Given the description of an element on the screen output the (x, y) to click on. 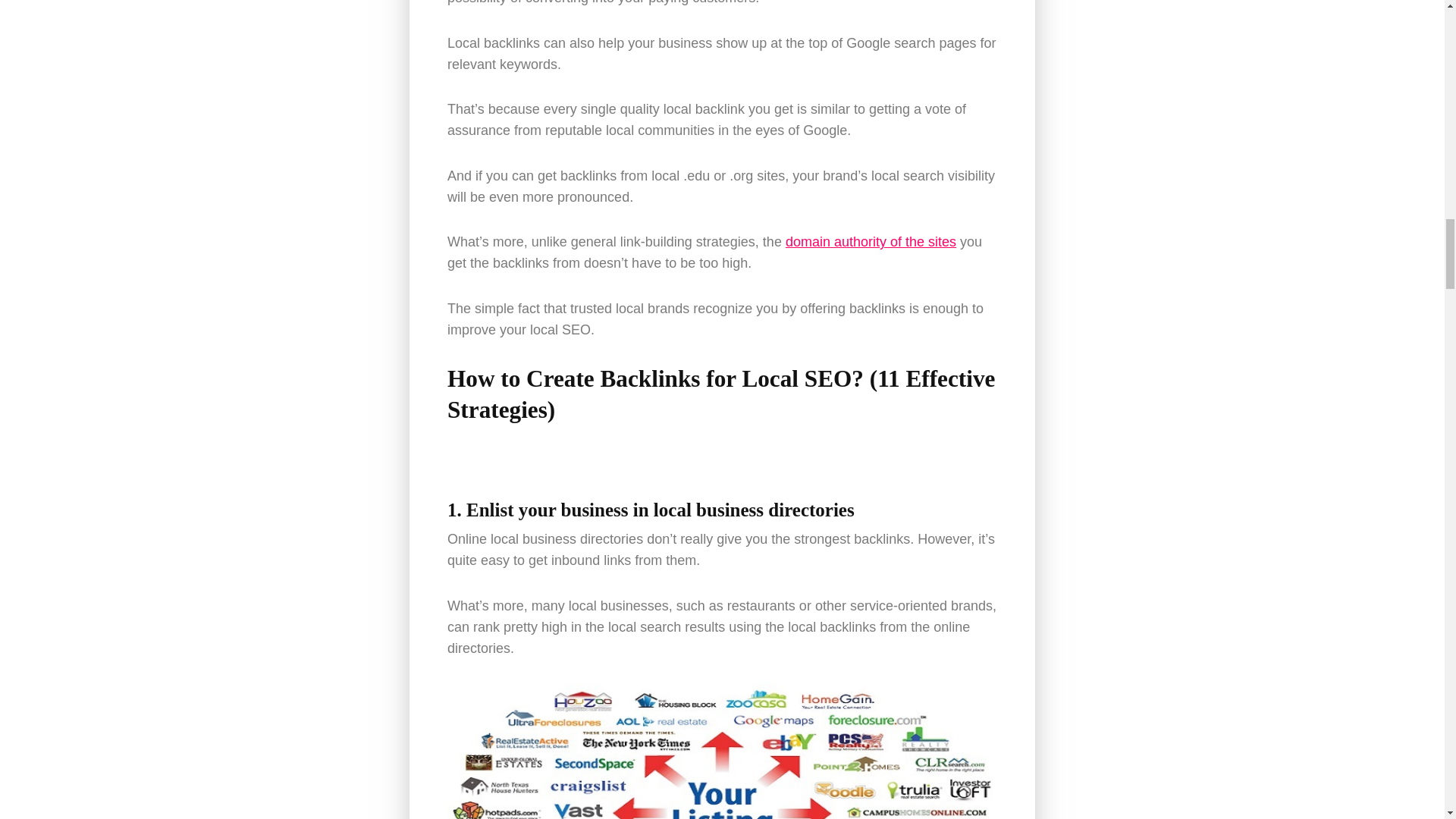
domain authority of the sites (871, 241)
